Given the description of an element on the screen output the (x, y) to click on. 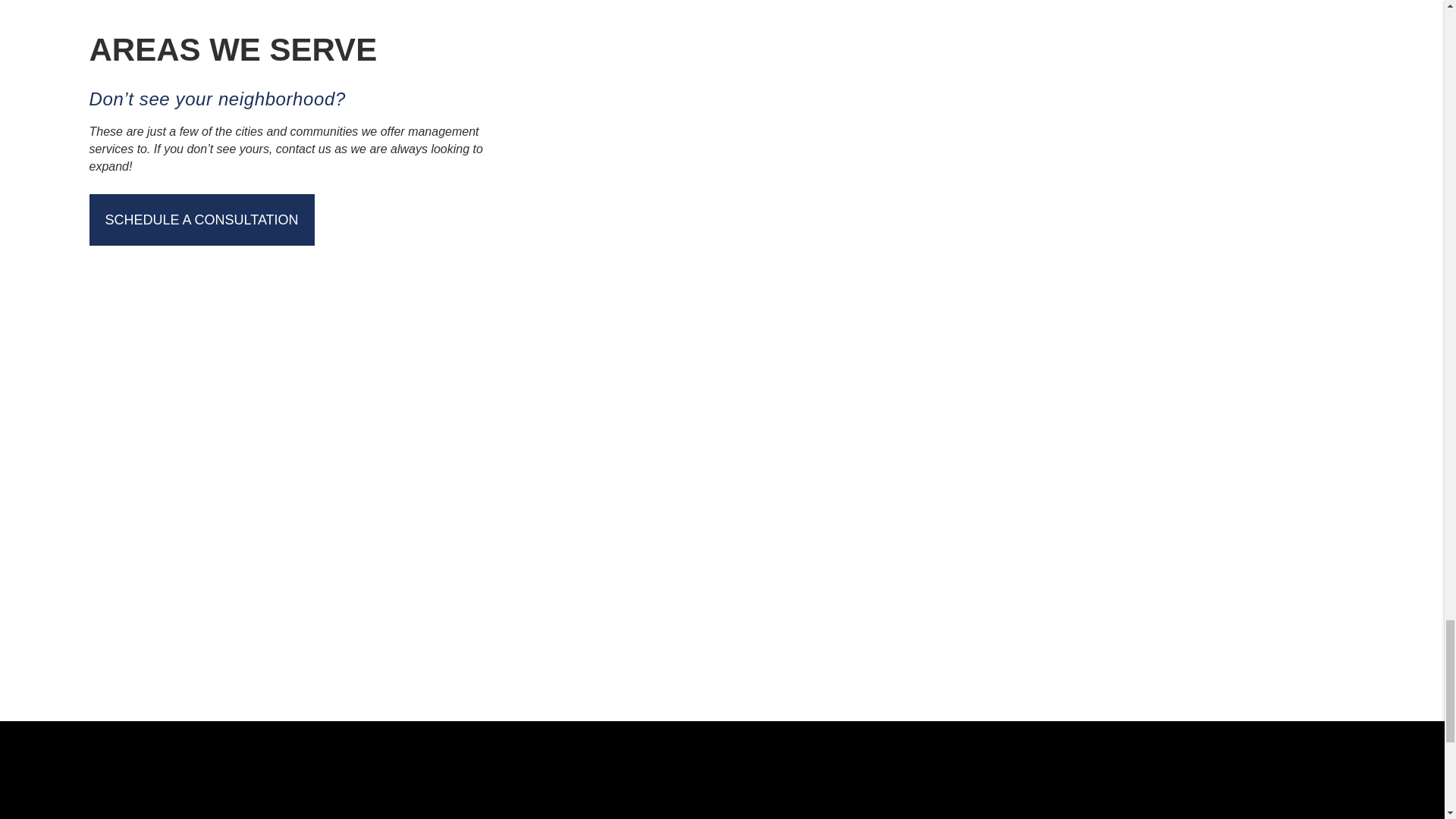
SCHEDULE A CONSULTATION (201, 219)
